Given the description of an element on the screen output the (x, y) to click on. 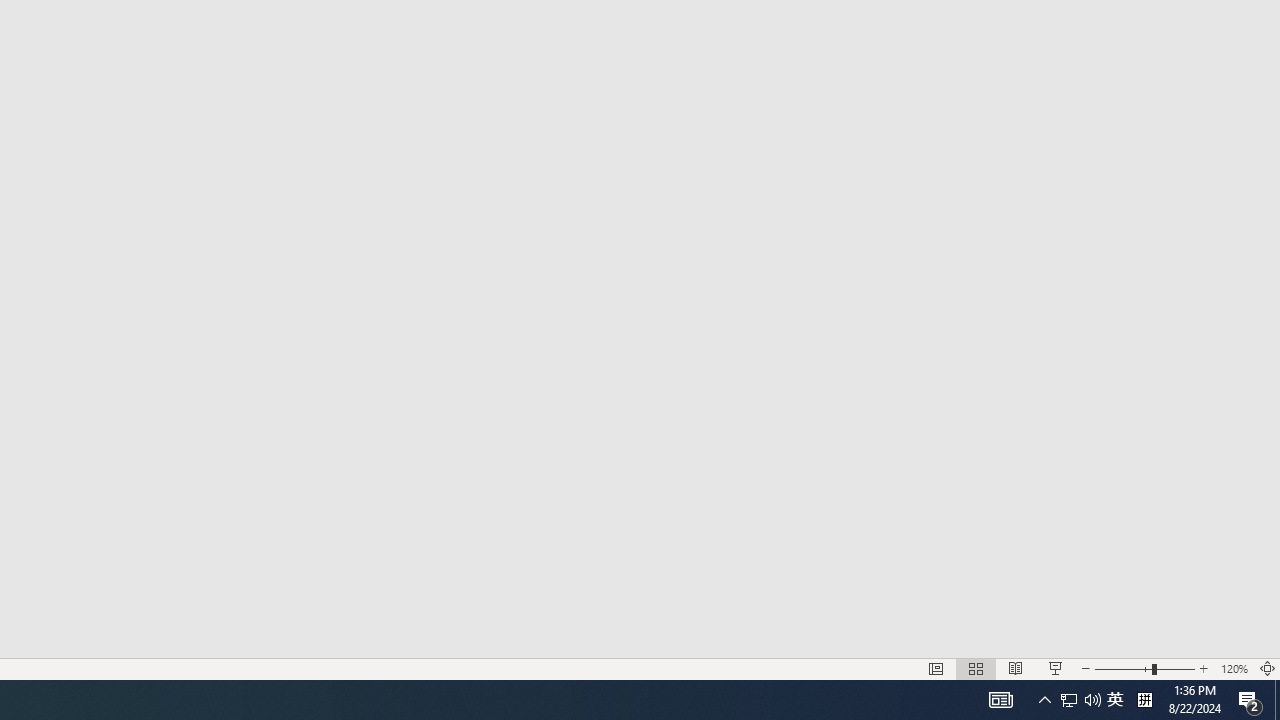
Zoom 120% (1234, 668)
